Given the description of an element on the screen output the (x, y) to click on. 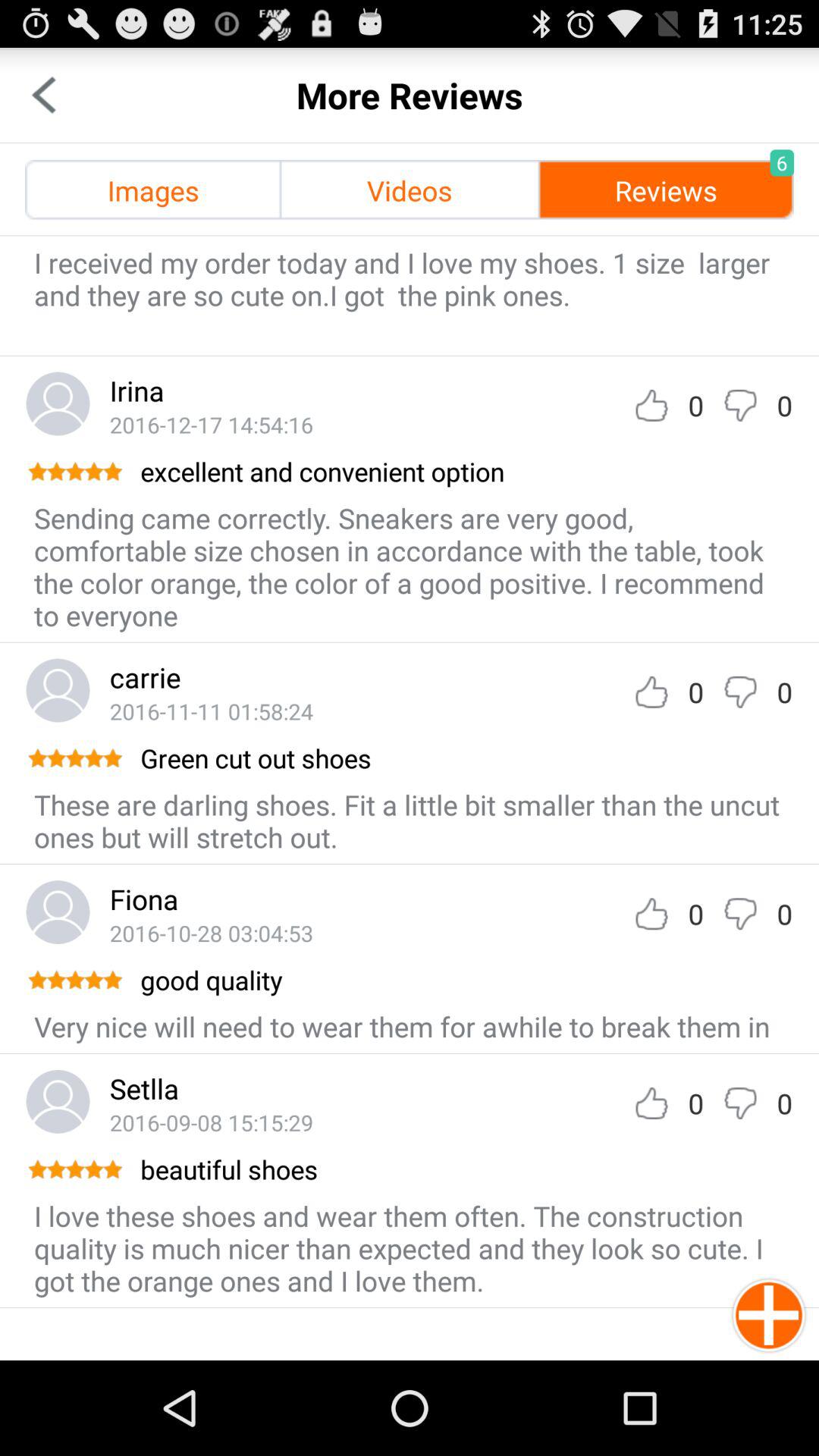
unlike (740, 692)
